Given the description of an element on the screen output the (x, y) to click on. 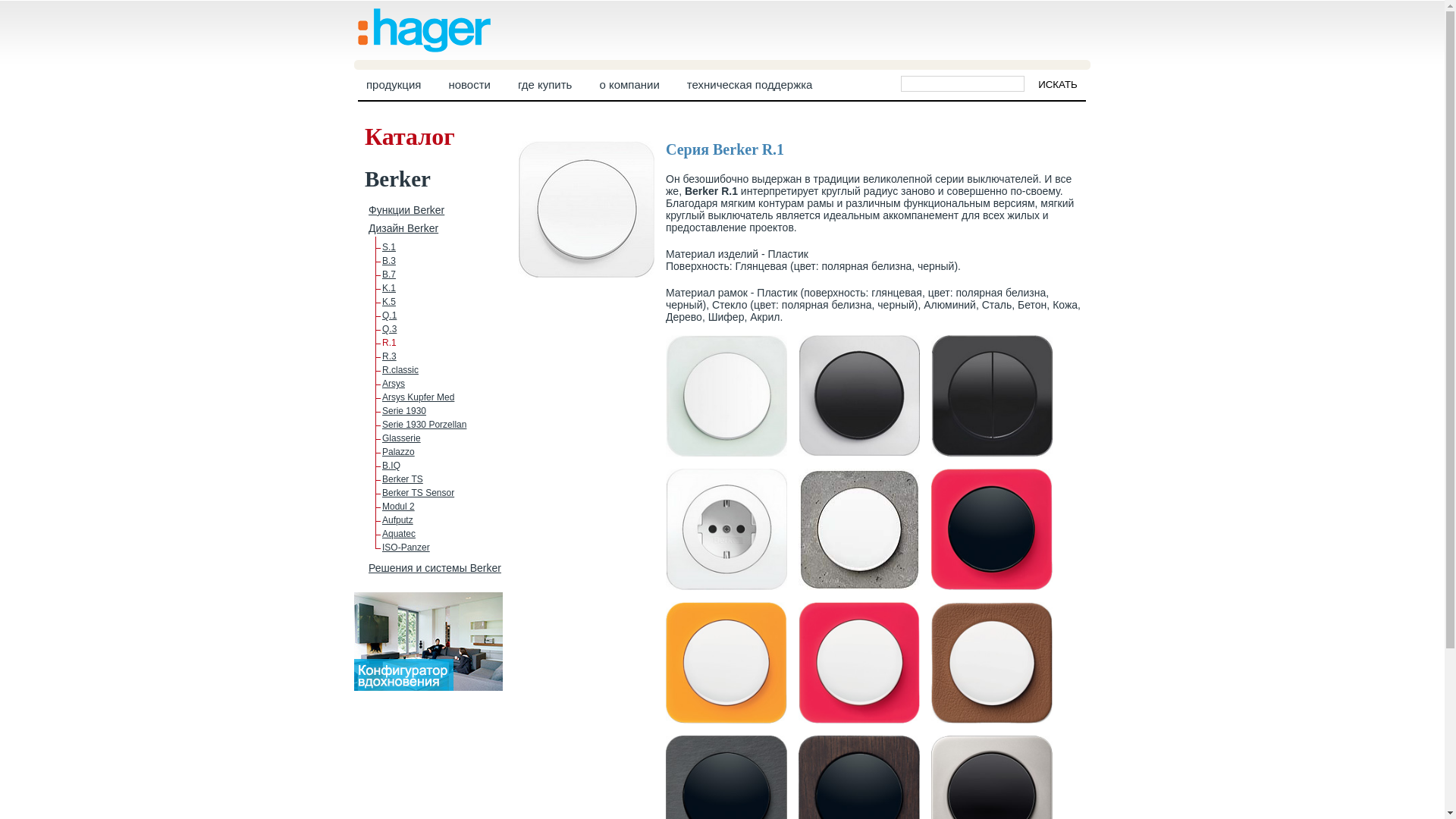
Hager Element type: hover (423, 46)
ISO-Panzer Element type: text (405, 547)
B.3 Element type: text (388, 260)
K.5 Element type: text (388, 301)
R.1 Element type: text (389, 342)
R.3 Element type: text (389, 356)
S.1 Element type: text (388, 246)
Arsys Element type: text (393, 383)
Berker TS Sensor Element type: text (418, 492)
Berker Element type: text (397, 178)
Berker TS Element type: text (402, 478)
Q.1 Element type: text (389, 315)
Q.3 Element type: text (389, 328)
Modul 2 Element type: text (398, 506)
Serie 1930 Porzellan Element type: text (424, 424)
Aufputz Element type: text (397, 519)
Glasserie Element type: text (401, 438)
B.IQ Element type: text (391, 465)
Palazzo Element type: text (398, 451)
B.7 Element type: text (388, 274)
Arsys Kupfer Med Element type: text (418, 397)
K.1 Element type: text (388, 287)
Serie 1930 Element type: text (404, 410)
Aquatec Element type: text (398, 533)
R.classic Element type: text (400, 369)
